Given the description of an element on the screen output the (x, y) to click on. 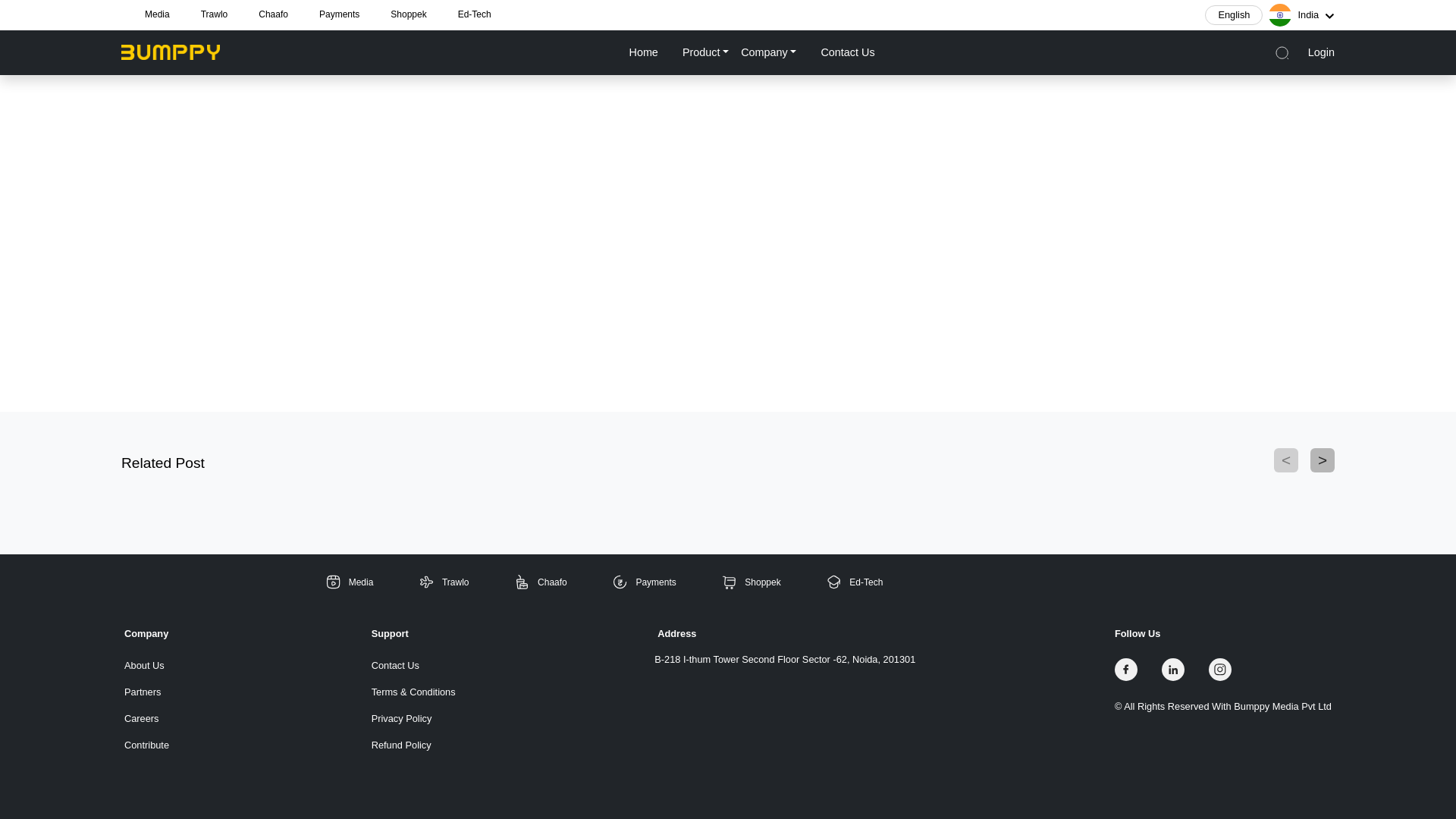
B-218 I-thum Tower Second Floor Sector -62, Noida, 201301 (784, 658)
Privacy Policy (413, 718)
Contact Us (413, 664)
Careers (145, 718)
Partners (145, 691)
About Us (145, 664)
Refund Policy (413, 745)
Contribute (145, 745)
